Given the description of an element on the screen output the (x, y) to click on. 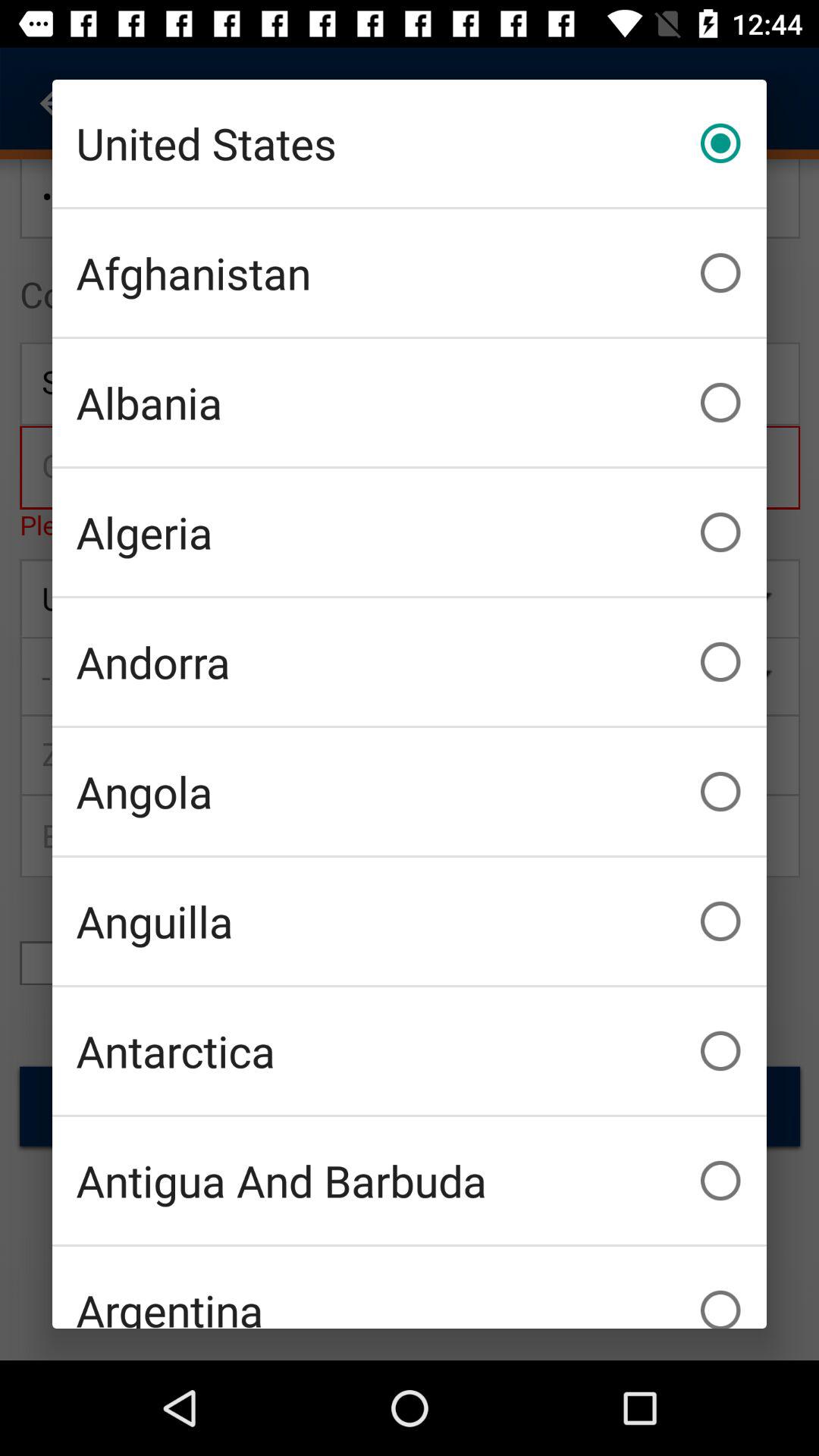
click afghanistan icon (409, 272)
